Given the description of an element on the screen output the (x, y) to click on. 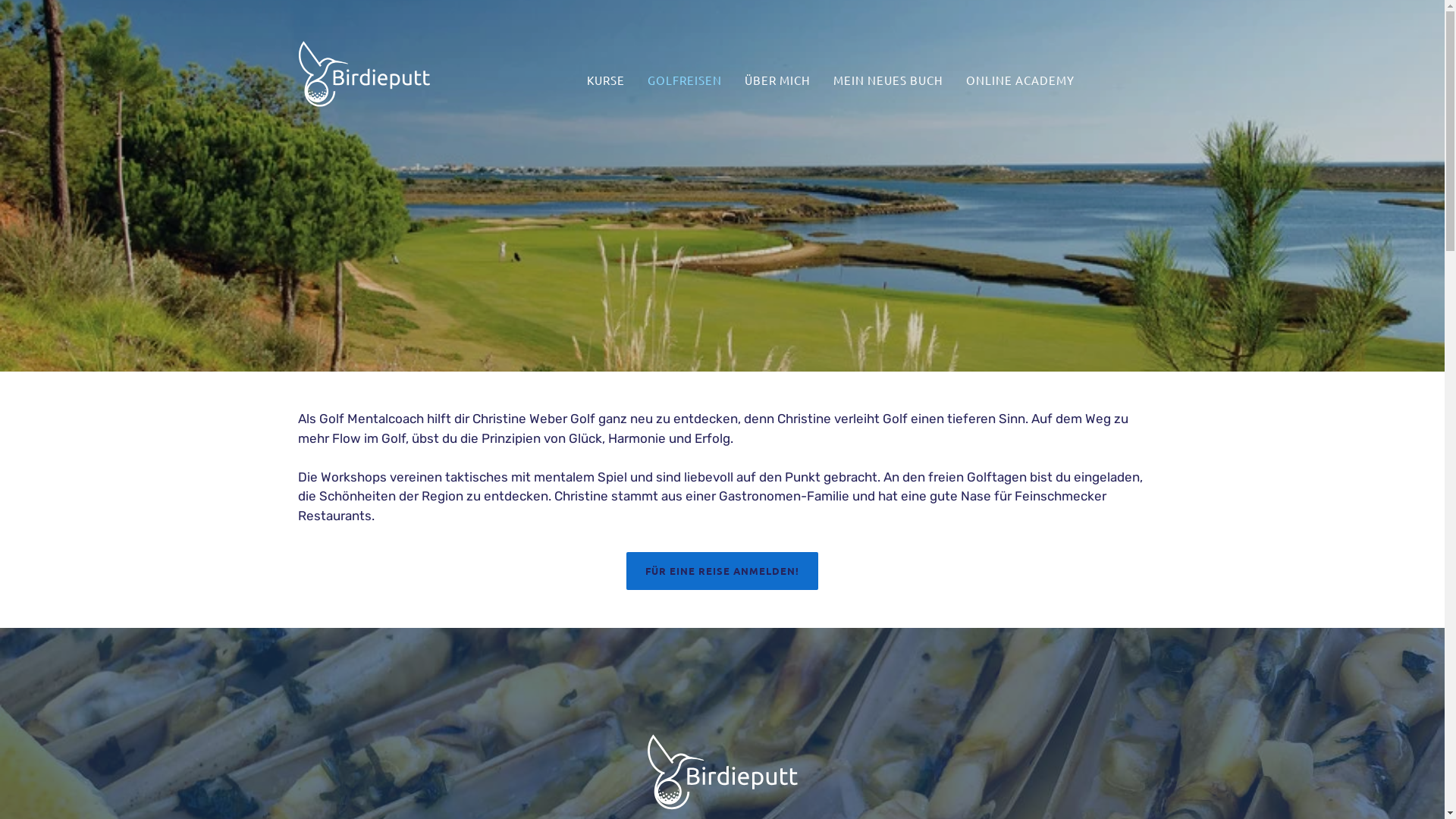
ONLINE ACADEMY Element type: text (1019, 79)
KURSE Element type: text (605, 79)
MEIN NEUES BUCH Element type: text (888, 79)
GOLFREISEN Element type: text (684, 79)
